Given the description of an element on the screen output the (x, y) to click on. 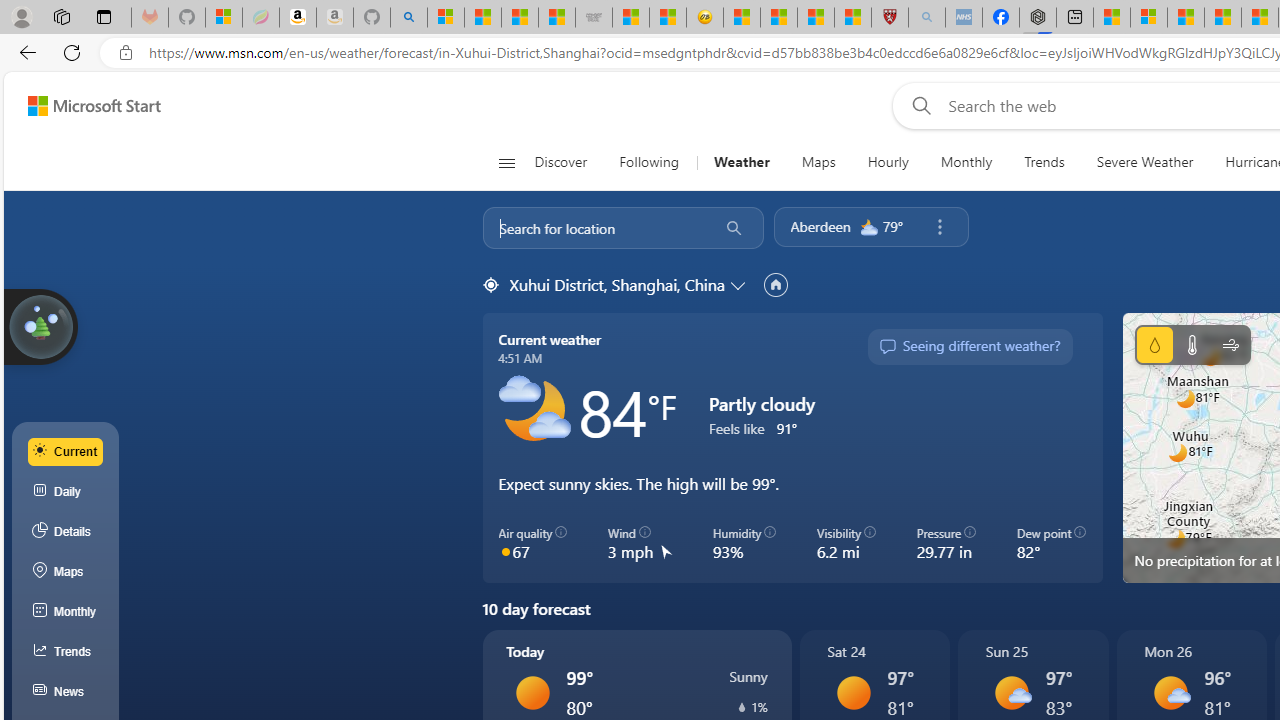
Xuhui District, Shanghai, China (616, 284)
Precipitation (1154, 344)
Maps (818, 162)
Details (65, 531)
Web search (917, 105)
Nordace - Nordace Siena Is Not An Ordinary Backpack (1037, 17)
Class: aqiColorCycle-DS-EntryPoint1-1 (505, 551)
Discover (560, 162)
Daily (65, 492)
Precipitation (742, 707)
Recipes - MSN (742, 17)
